Given the description of an element on the screen output the (x, y) to click on. 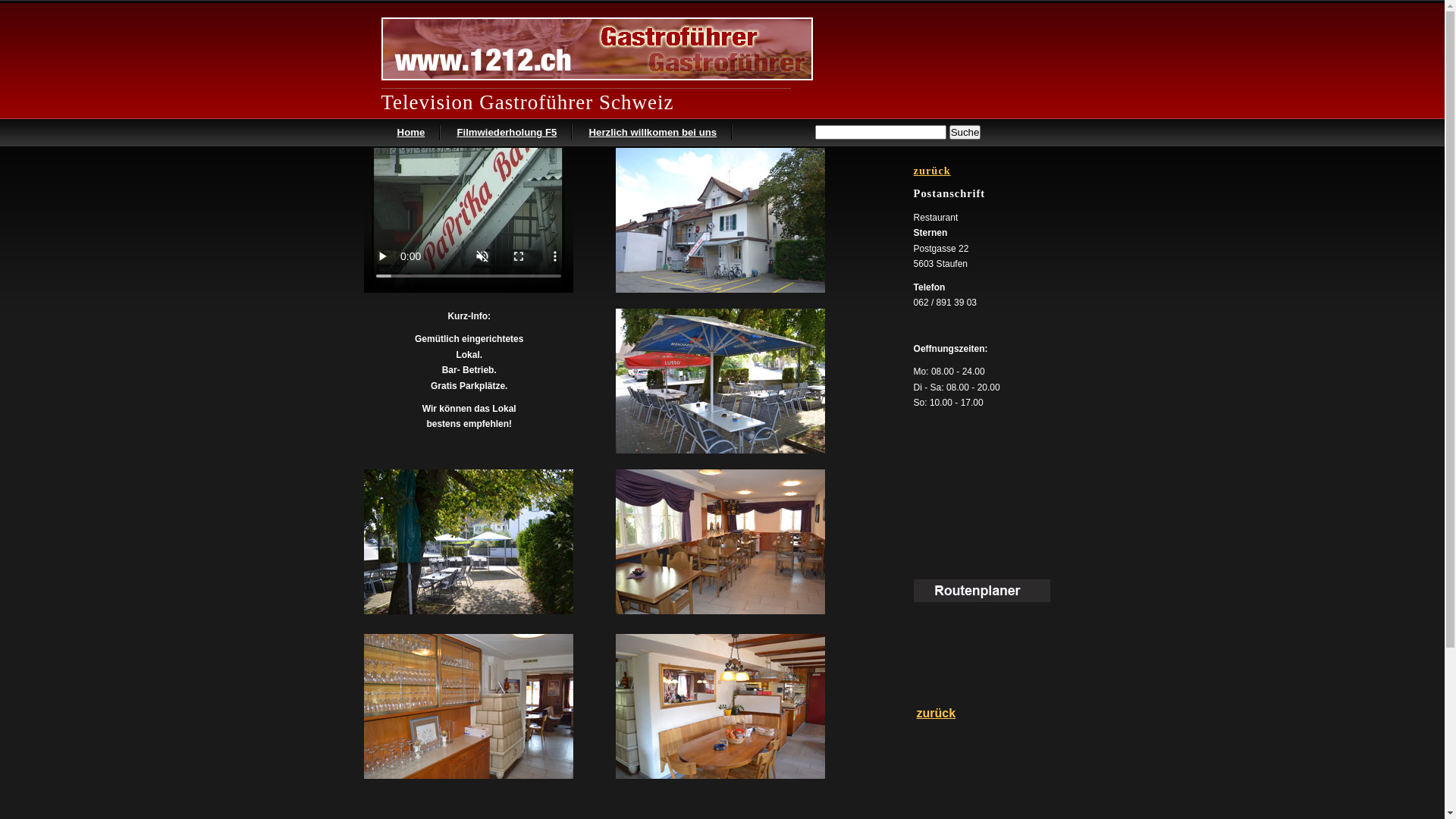
Suche Element type: text (965, 132)
Herzlich willkomen bei uns Element type: text (652, 132)
Home Element type: text (410, 132)
Filmwiederholung F5 Element type: text (506, 132)
